Given the description of an element on the screen output the (x, y) to click on. 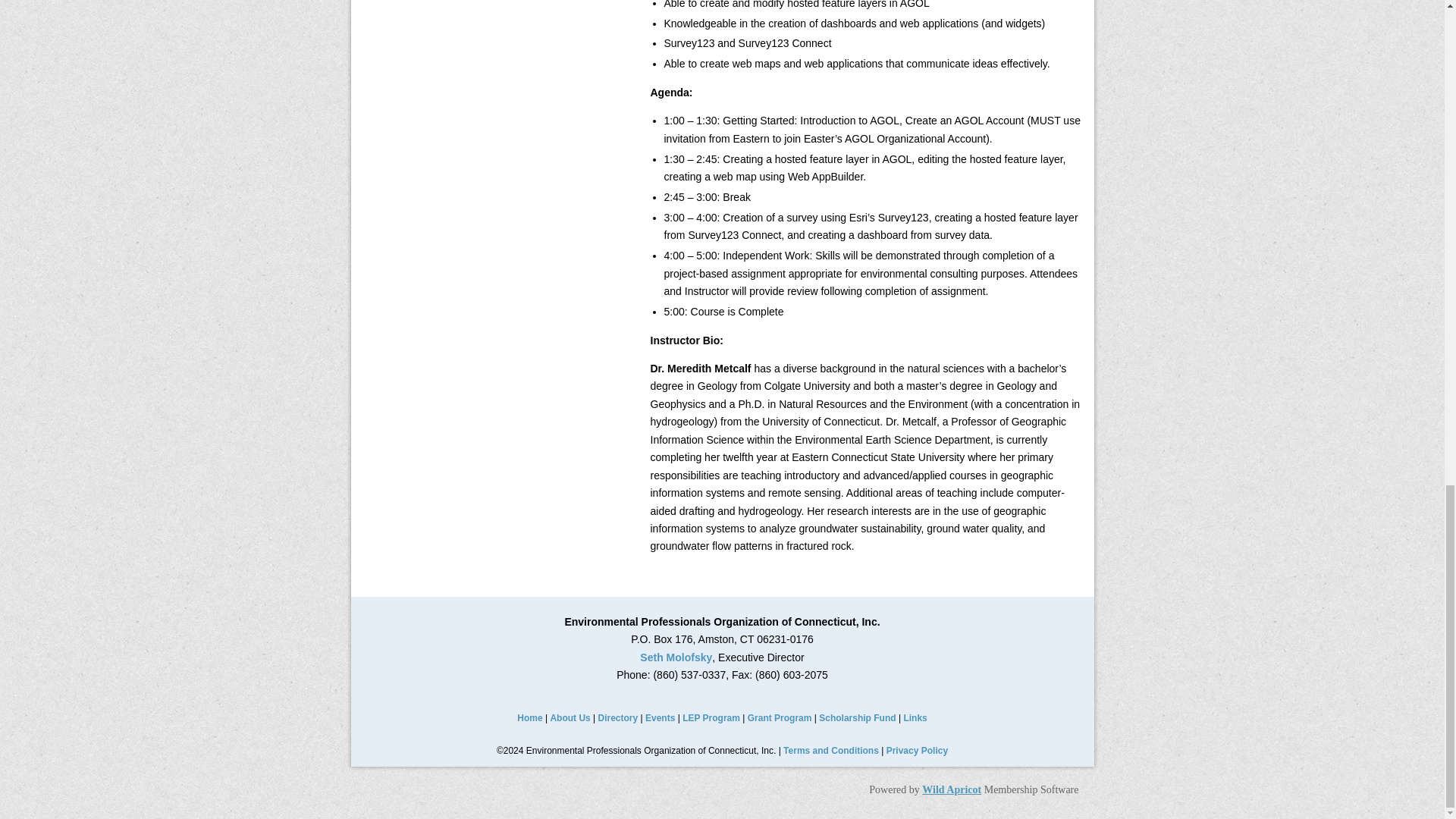
Scholarship Fund (856, 717)
Privacy Policy (916, 750)
Events (660, 717)
Home (528, 717)
About Us (569, 717)
LEP Program (710, 717)
Seth Molofsky (675, 657)
Terms and Conditions (831, 750)
Directory (618, 717)
Links (914, 717)
Wild Apricot (951, 789)
Grant Program (780, 717)
